Given the description of an element on the screen output the (x, y) to click on. 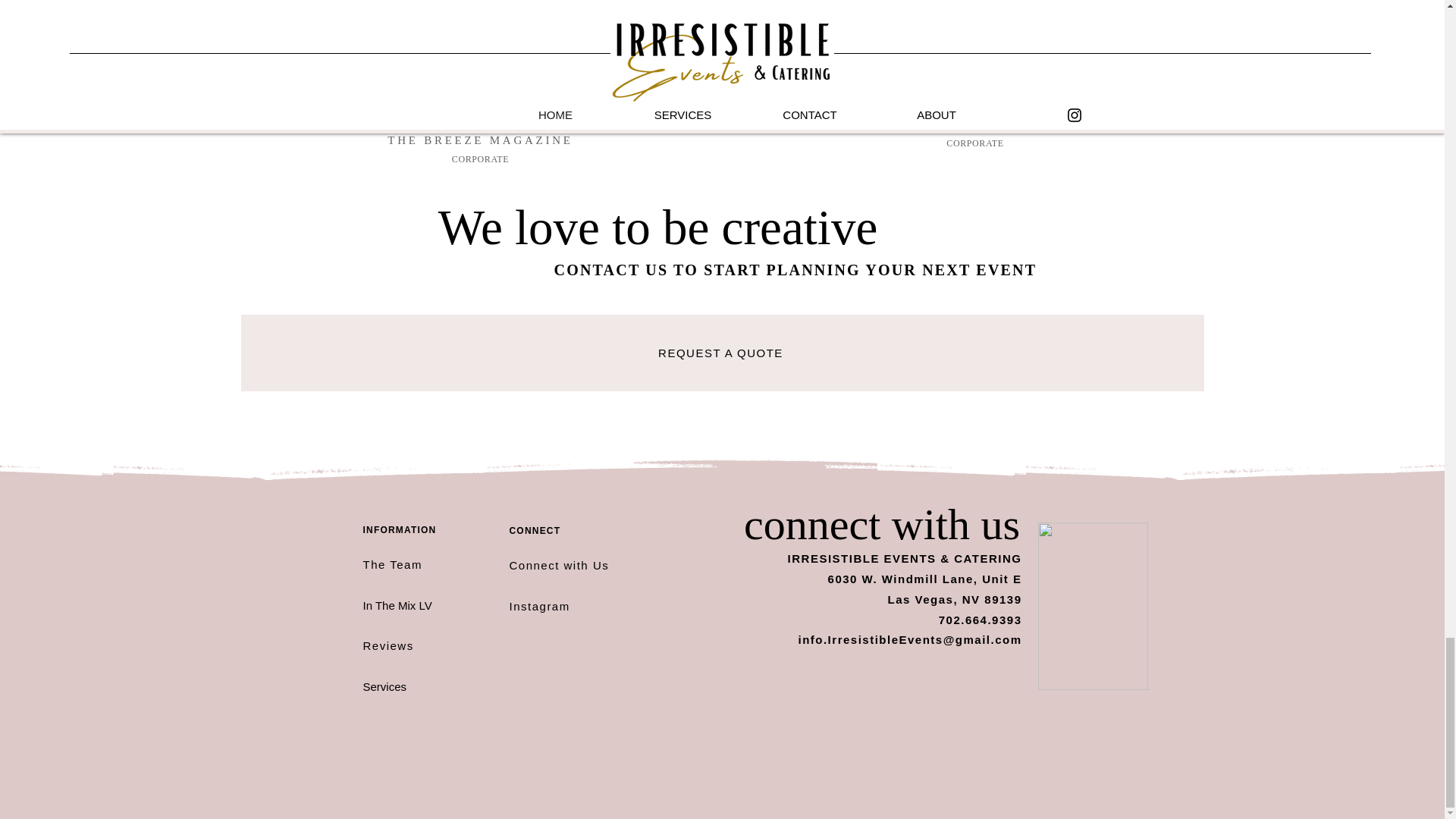
Serv (373, 686)
Instagram (539, 605)
In The Mix LV (396, 604)
Connect with Us (559, 564)
Reviews (387, 645)
connect with us  (887, 523)
REQUEST A QUOTE (722, 352)
ices (395, 686)
The Team (392, 563)
